Given the description of an element on the screen output the (x, y) to click on. 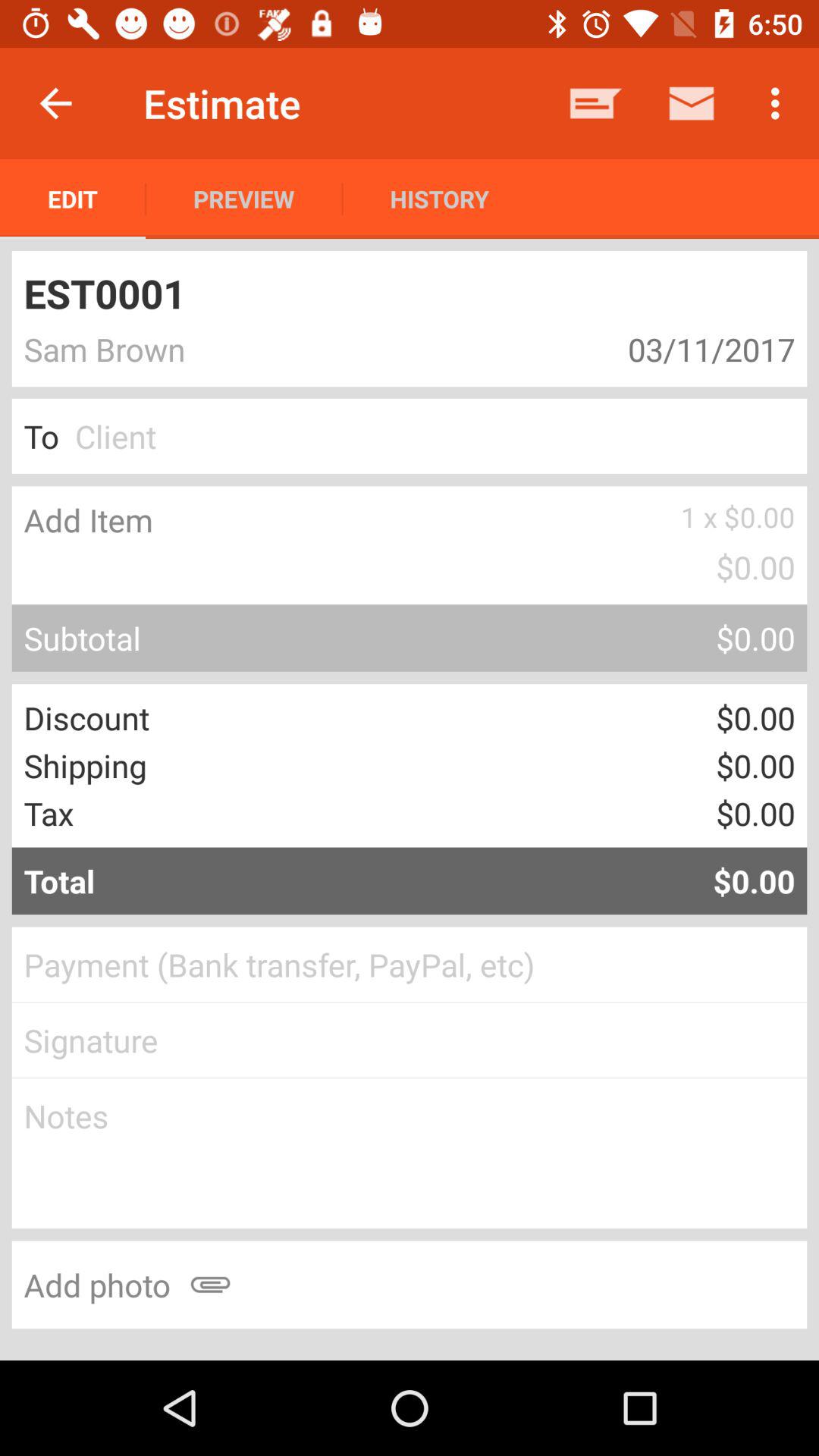
turn off app to the right of history icon (595, 103)
